Given the description of an element on the screen output the (x, y) to click on. 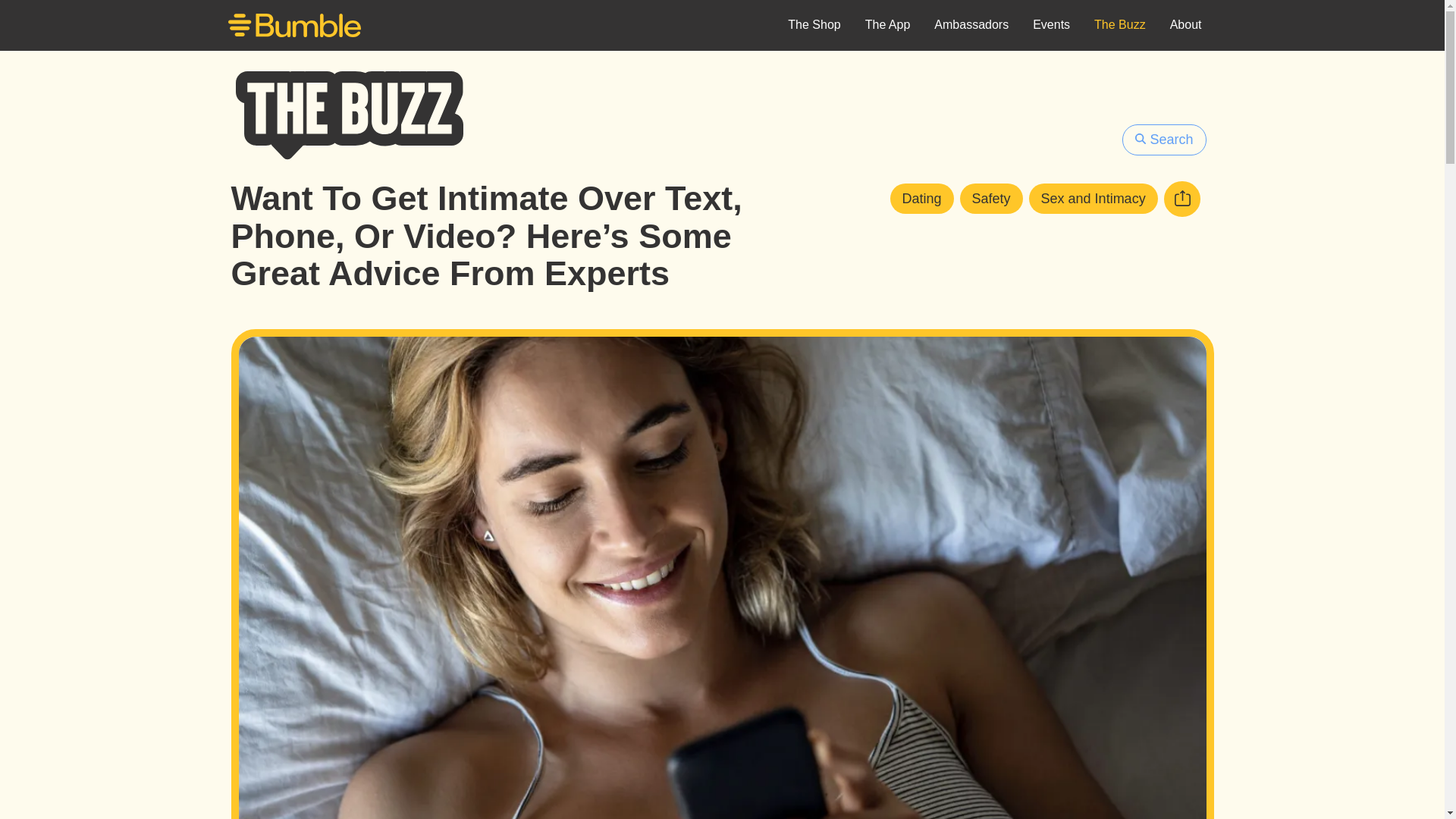
The App (888, 25)
Events (1050, 25)
Ambassadors (970, 25)
The Shop (813, 25)
The Buzz (1119, 25)
Search (1163, 139)
Bumble (293, 27)
About (1185, 25)
